Given the description of an element on the screen output the (x, y) to click on. 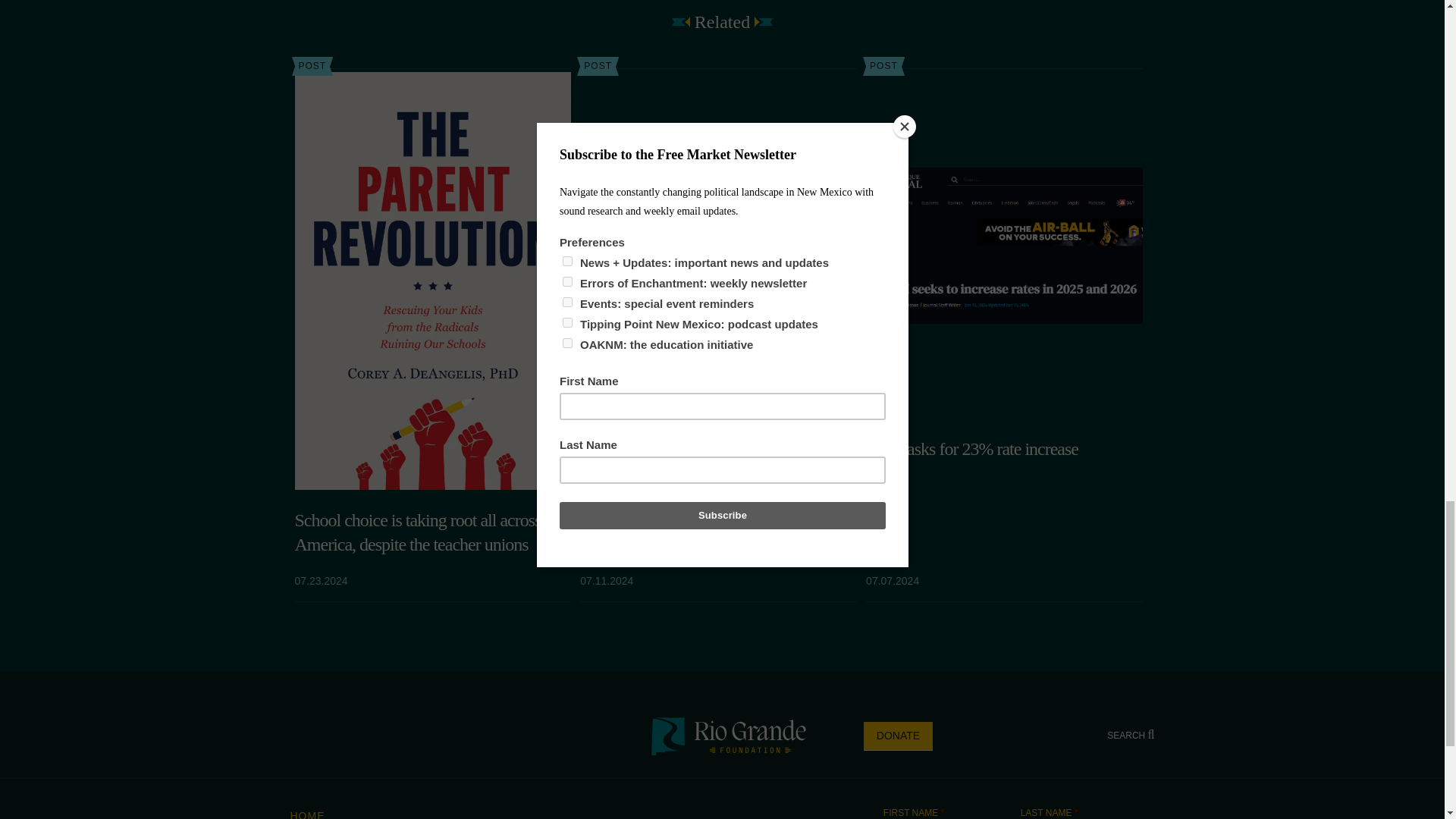
SEARCH (1130, 735)
HOME (306, 814)
DONATE (898, 736)
A GOP strategy for the special session (718, 448)
